Given the description of an element on the screen output the (x, y) to click on. 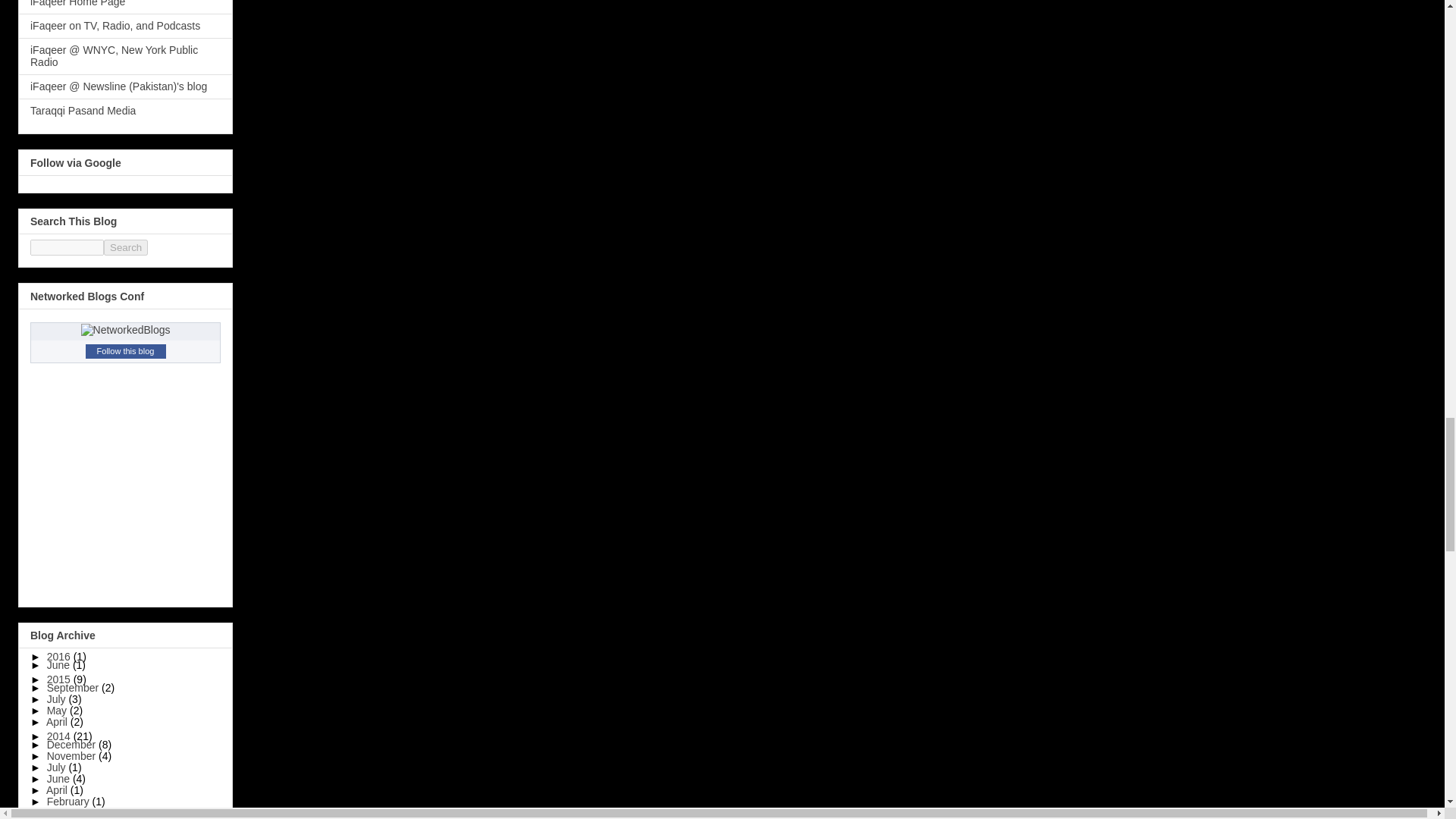
Search (125, 247)
Search (125, 247)
